Given the description of an element on the screen output the (x, y) to click on. 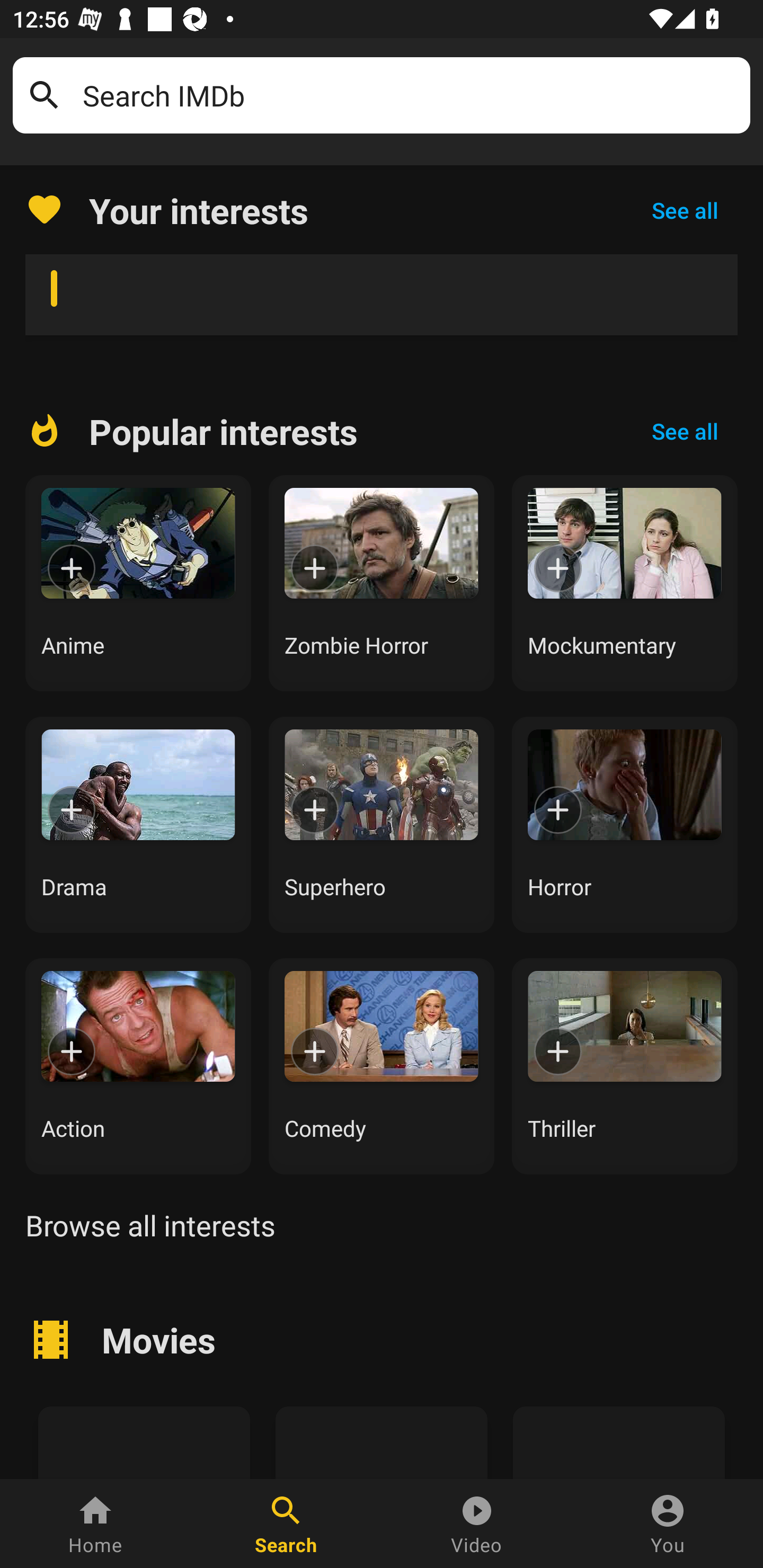
Search IMDb (410, 95)
See all (684, 209)
See all (684, 430)
Anime (138, 583)
Zombie Horror (381, 583)
Mockumentary (624, 583)
Drama (138, 824)
Superhero (381, 824)
Horror (624, 824)
Action (138, 1065)
Comedy (381, 1065)
Thriller (624, 1065)
Browse all interests (150, 1224)
Home (95, 1523)
Video (476, 1523)
You (667, 1523)
